Given the description of an element on the screen output the (x, y) to click on. 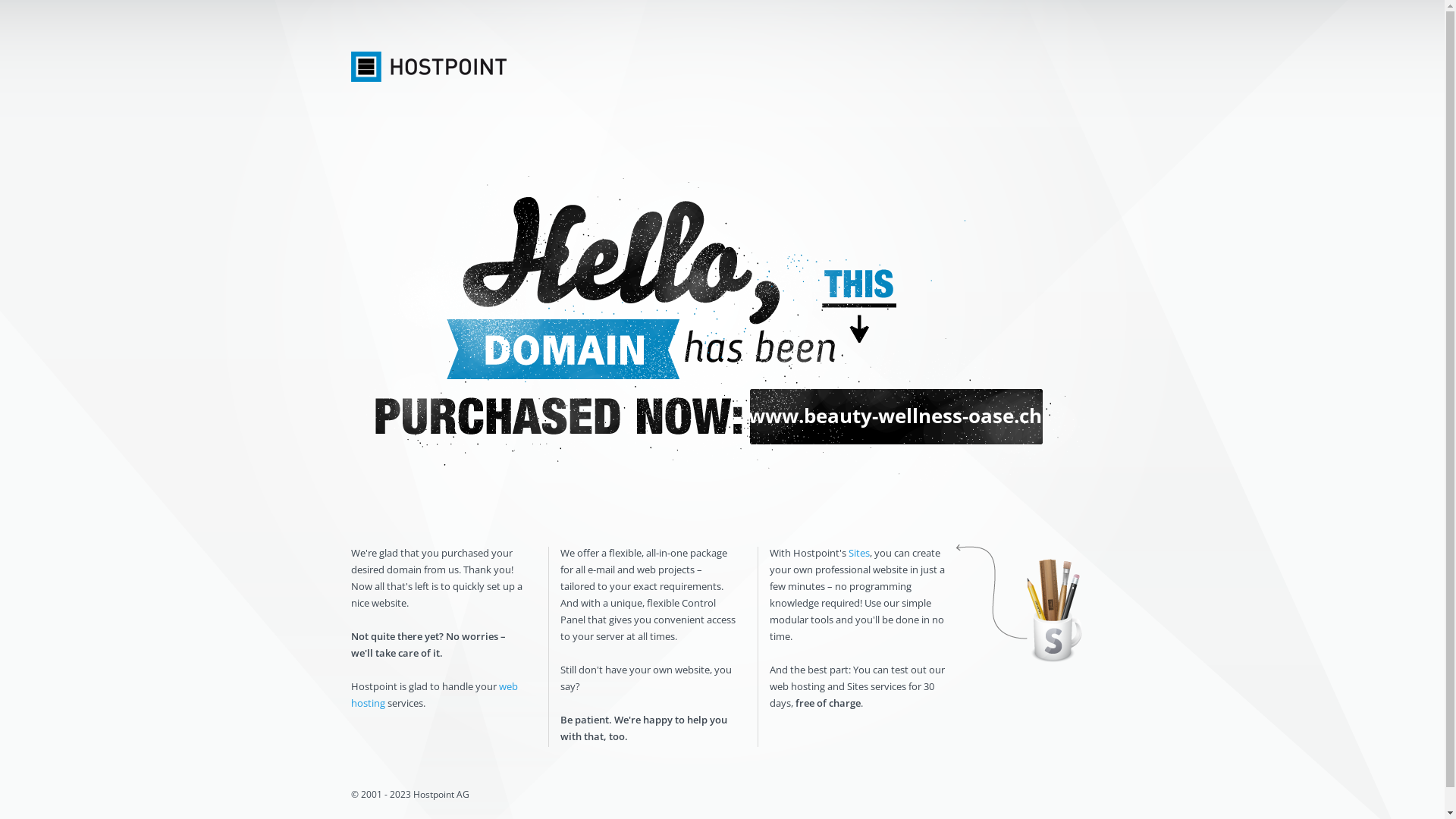
web hosting Element type: text (433, 694)
Sites Element type: text (858, 552)
